Given the description of an element on the screen output the (x, y) to click on. 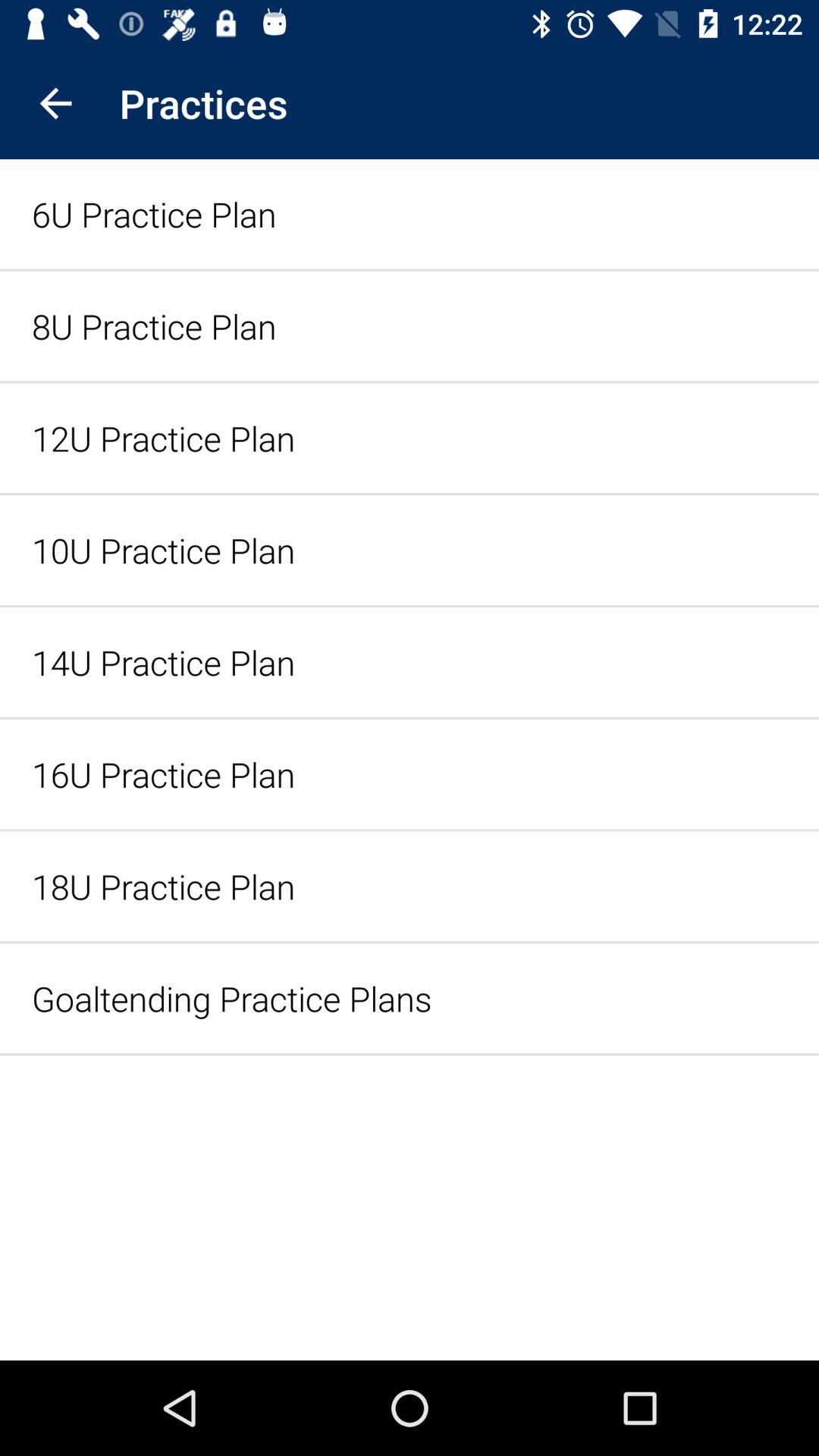
select icon to the left of the practices item (55, 103)
